Given the description of an element on the screen output the (x, y) to click on. 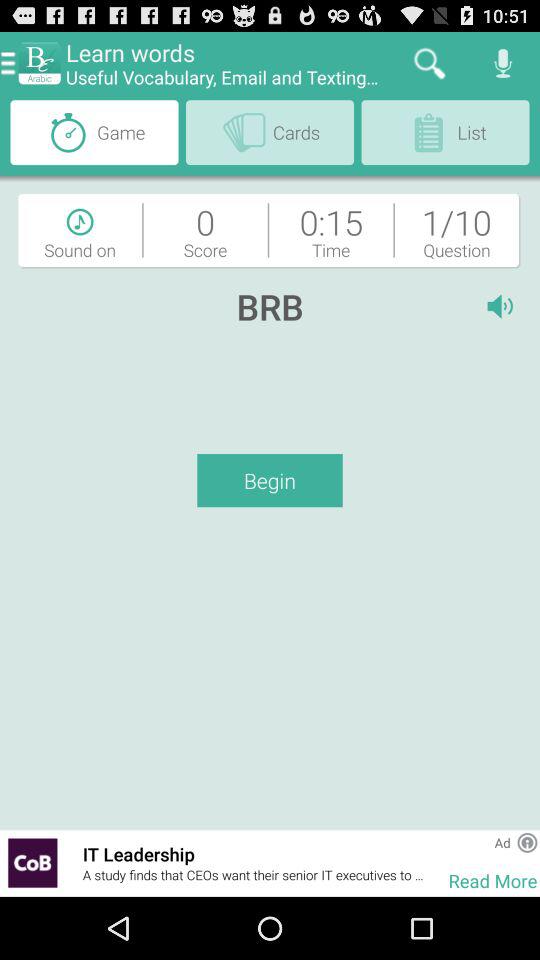
more information (527, 842)
